Given the description of an element on the screen output the (x, y) to click on. 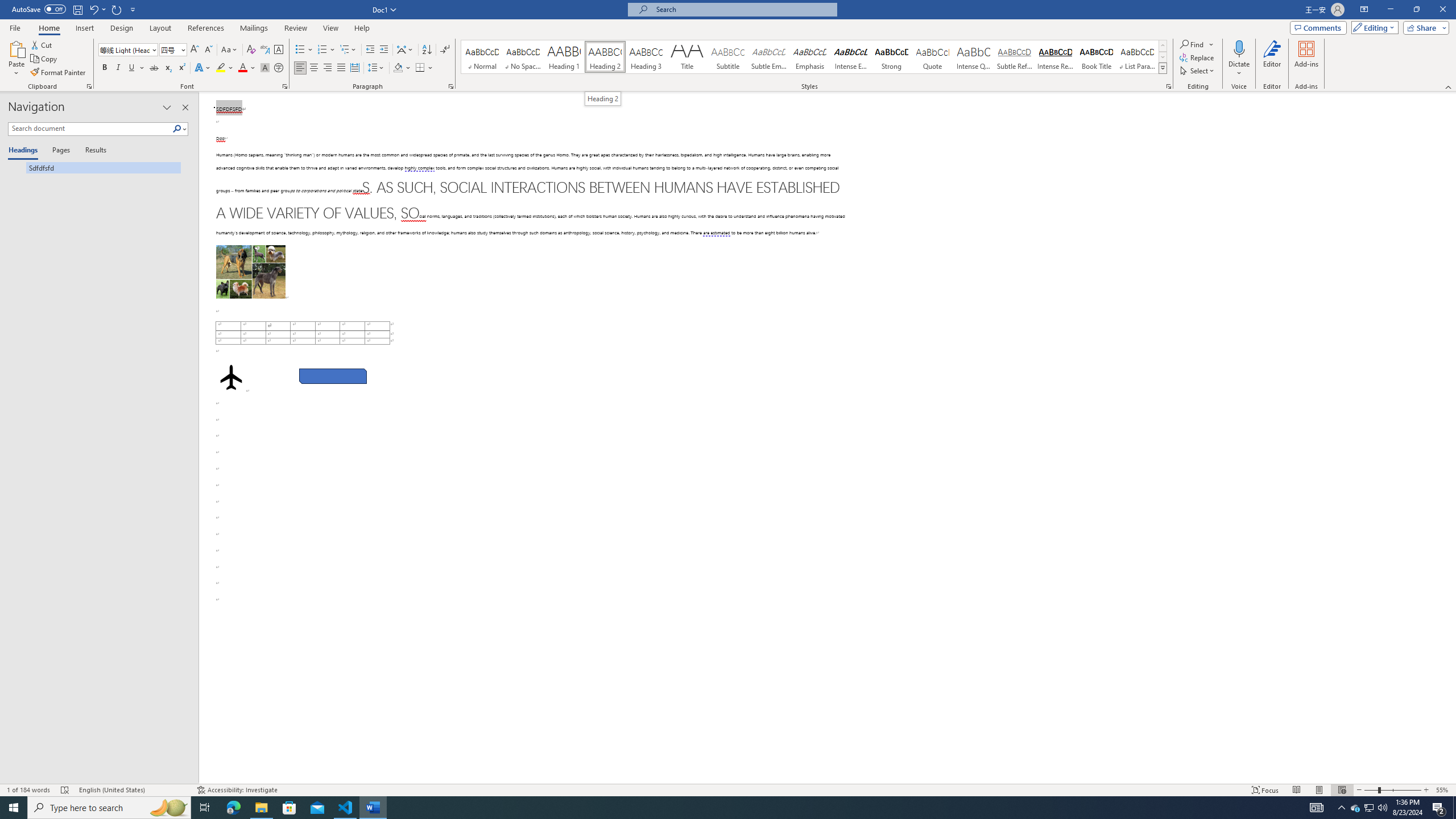
Airplane with solid fill (230, 376)
Multilevel List (347, 49)
Justify (340, 67)
Strikethrough (154, 67)
Align Left (300, 67)
Sdfdfsfd (94, 167)
Copy (45, 58)
